Given the description of an element on the screen output the (x, y) to click on. 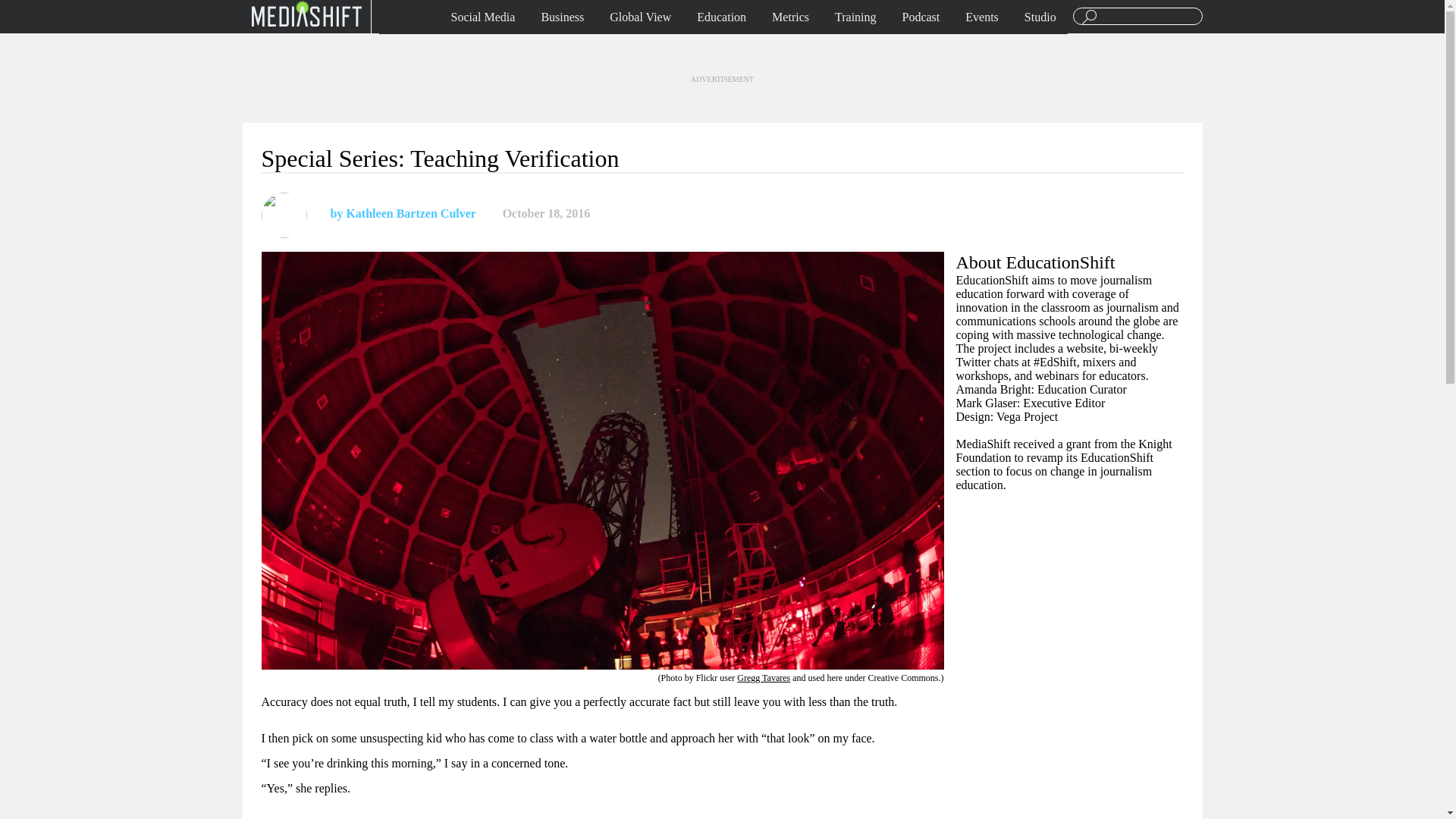
Business (562, 17)
Training (856, 17)
Events (981, 17)
Education (721, 17)
Podcast (921, 17)
Share by Email (671, 213)
Studio (1040, 17)
Metrics (790, 17)
Social Media (483, 17)
Global View (640, 17)
